Given the description of an element on the screen output the (x, y) to click on. 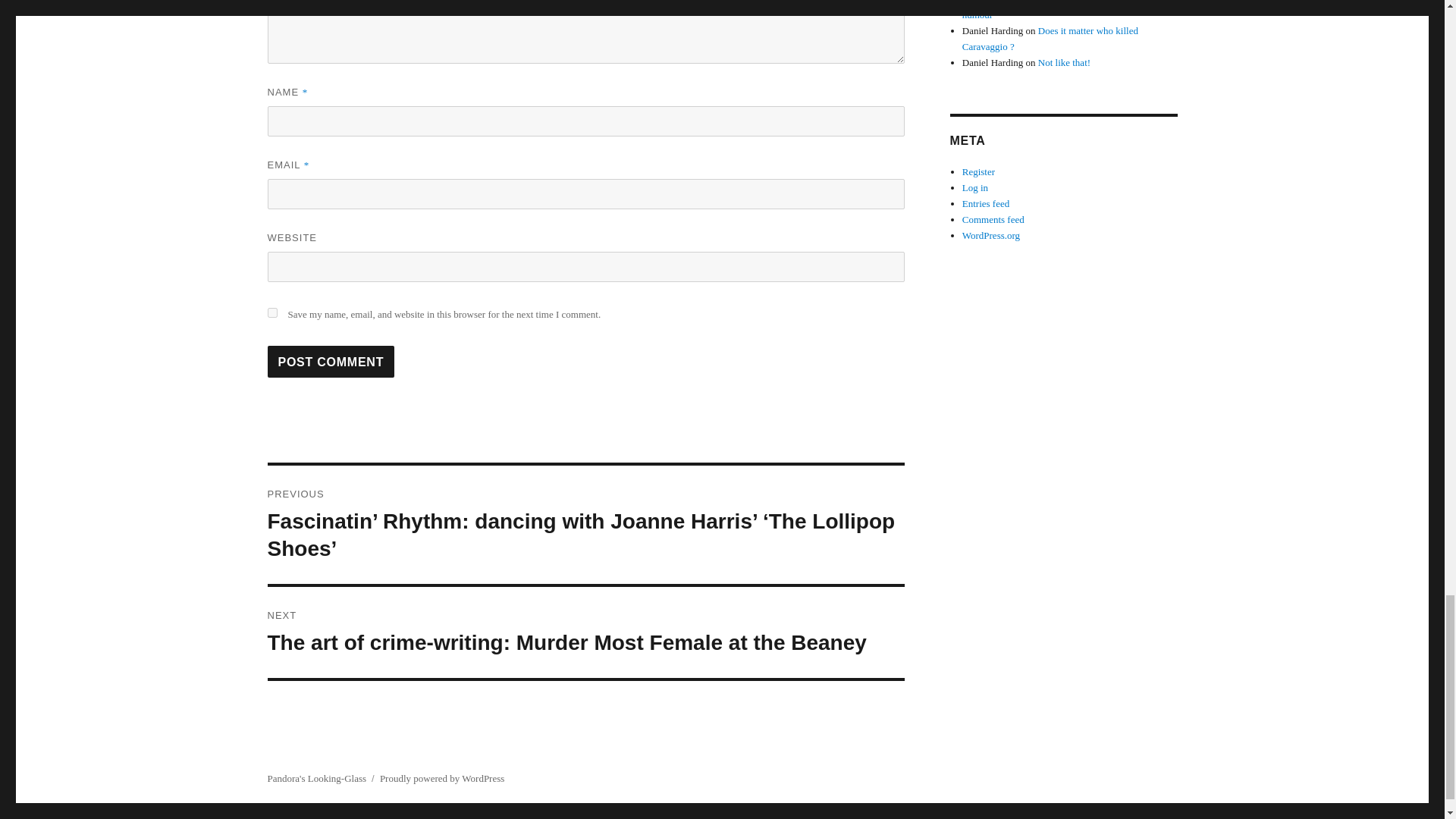
Post Comment (330, 361)
Post Comment (330, 361)
yes (271, 312)
